Given the description of an element on the screen output the (x, y) to click on. 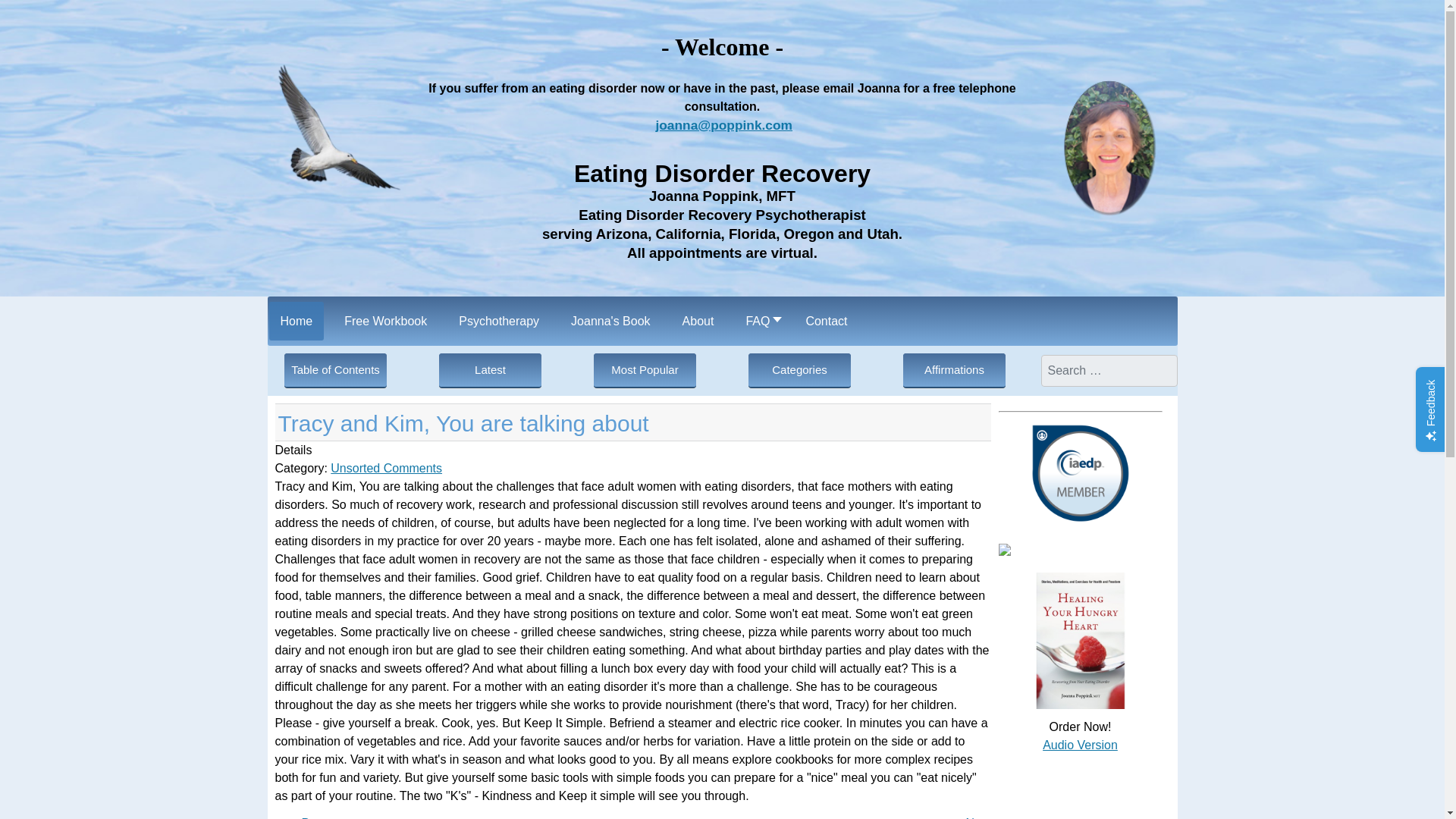
Next (978, 817)
Latest (490, 370)
Free Workbook (385, 321)
About (698, 321)
yes, it's very challenging. I have the a (313, 817)
Prev (313, 817)
Contact (826, 321)
Affirmations (954, 370)
Categories (799, 370)
Audio Version (1080, 744)
